Given the description of an element on the screen output the (x, y) to click on. 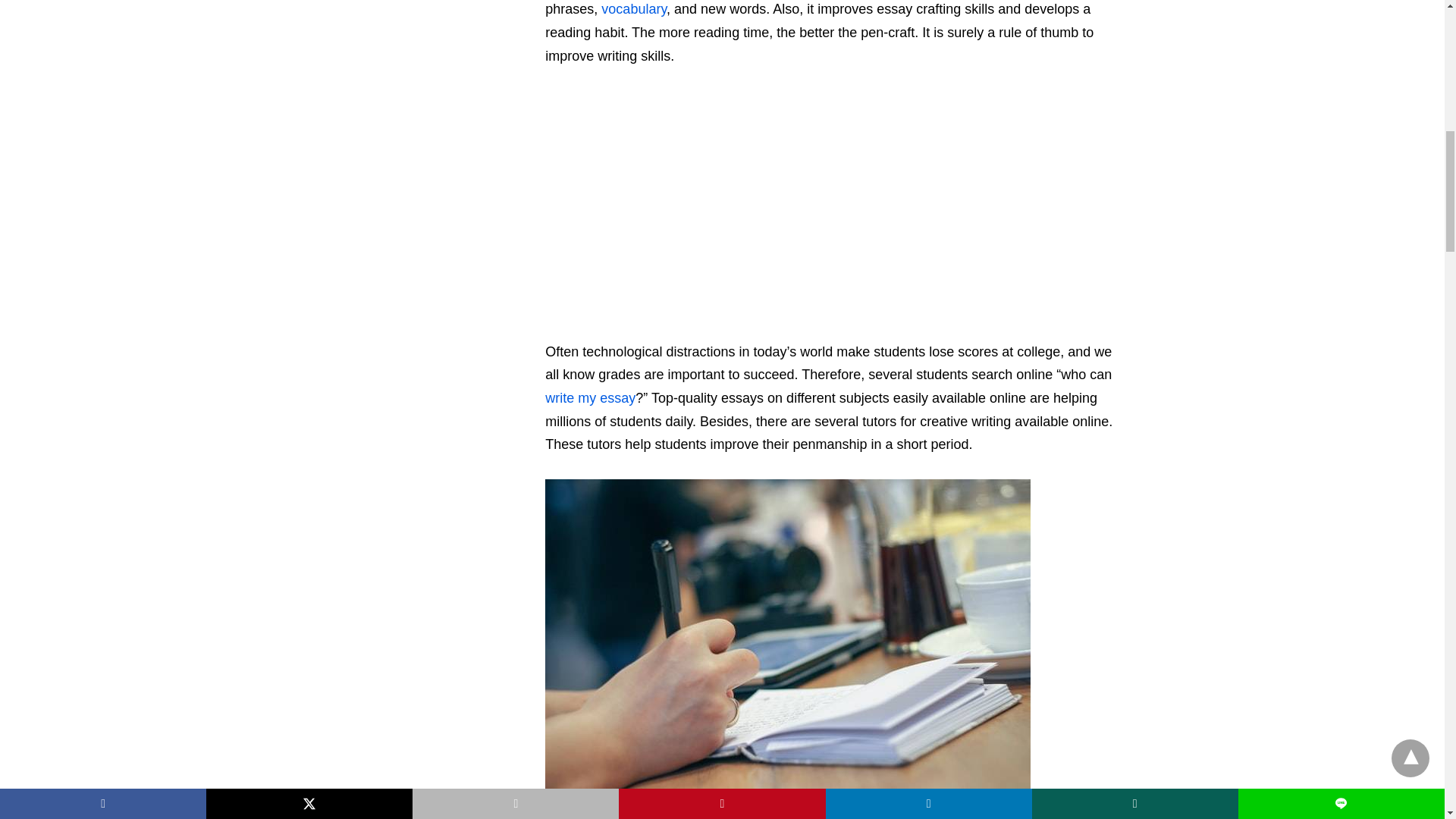
vocabulary (633, 8)
write my essay (589, 397)
